Given the description of an element on the screen output the (x, y) to click on. 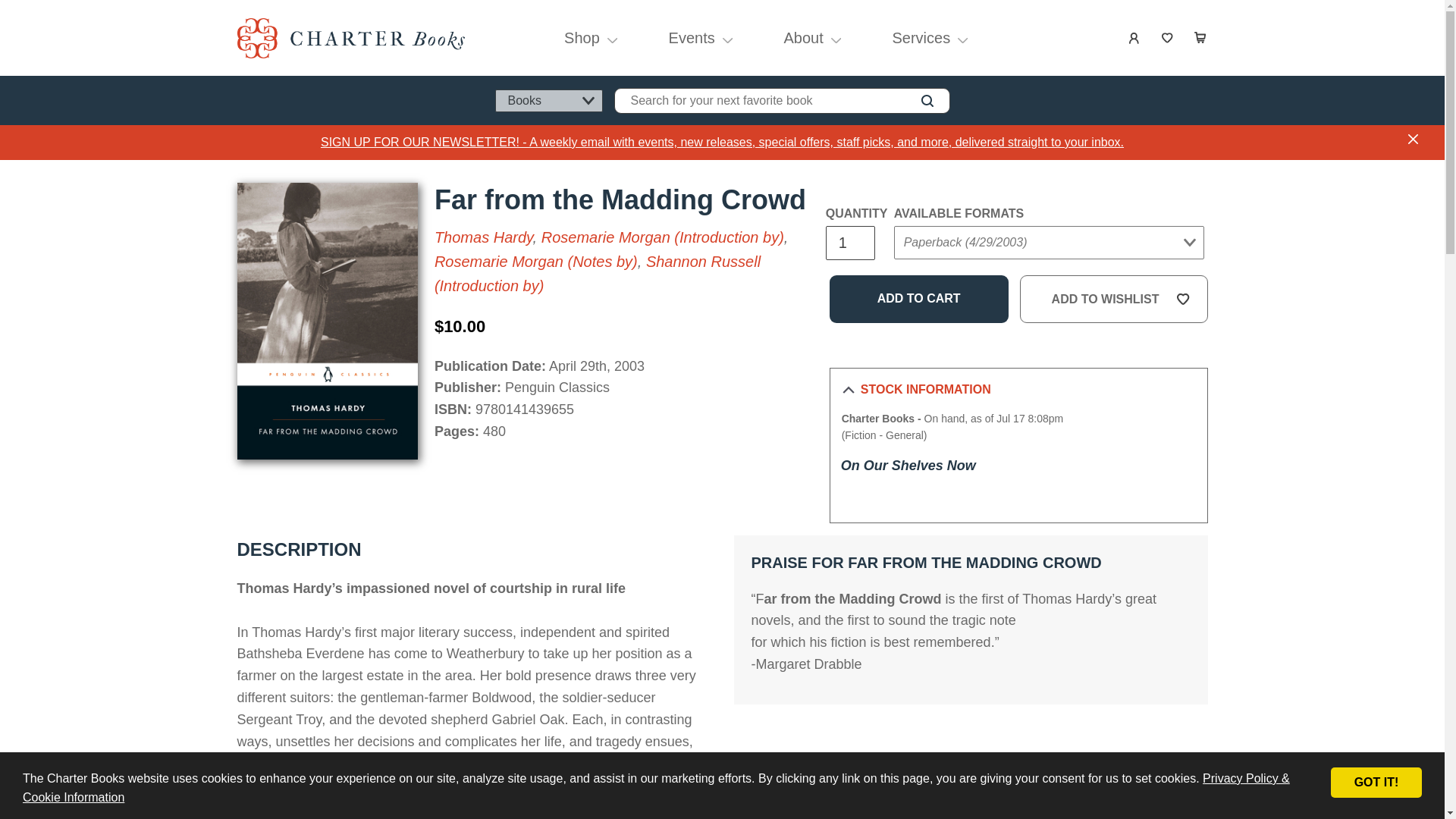
Shop (581, 38)
Wishlists (1168, 37)
Log in (1134, 37)
SERVICES SUB-NAVIGATION (963, 37)
Add to cart (919, 299)
EVENTS SUB-NAVIGATION (727, 37)
Wishlist (1168, 37)
1 (850, 243)
Cart (1201, 37)
Cart (1201, 37)
Events (690, 38)
About (802, 38)
ABOUT SUB-NAVIGATION (836, 37)
SEARCH (926, 100)
